Given the description of an element on the screen output the (x, y) to click on. 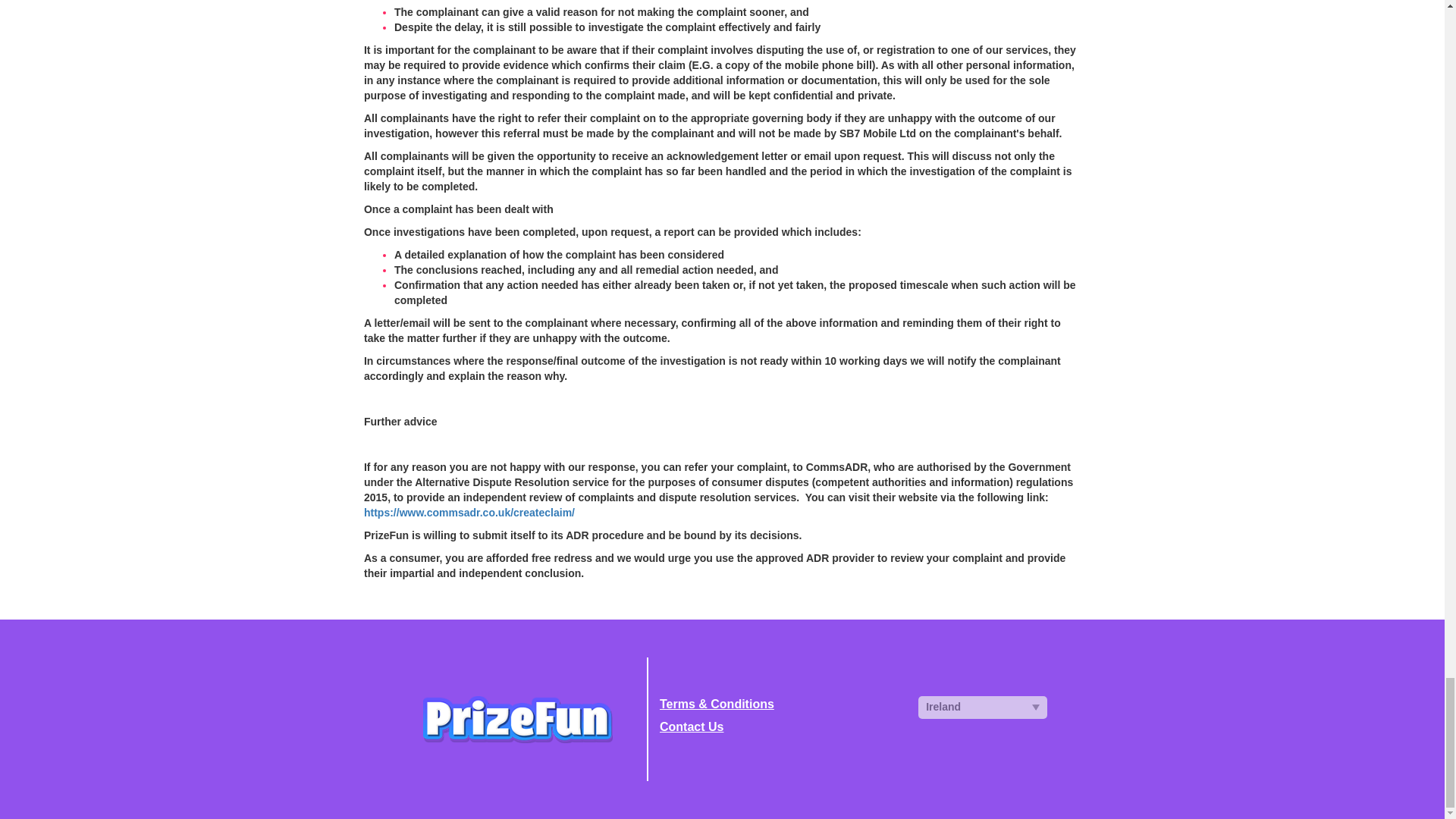
Country Select (982, 707)
Contact Us (777, 727)
